Given the description of an element on the screen output the (x, y) to click on. 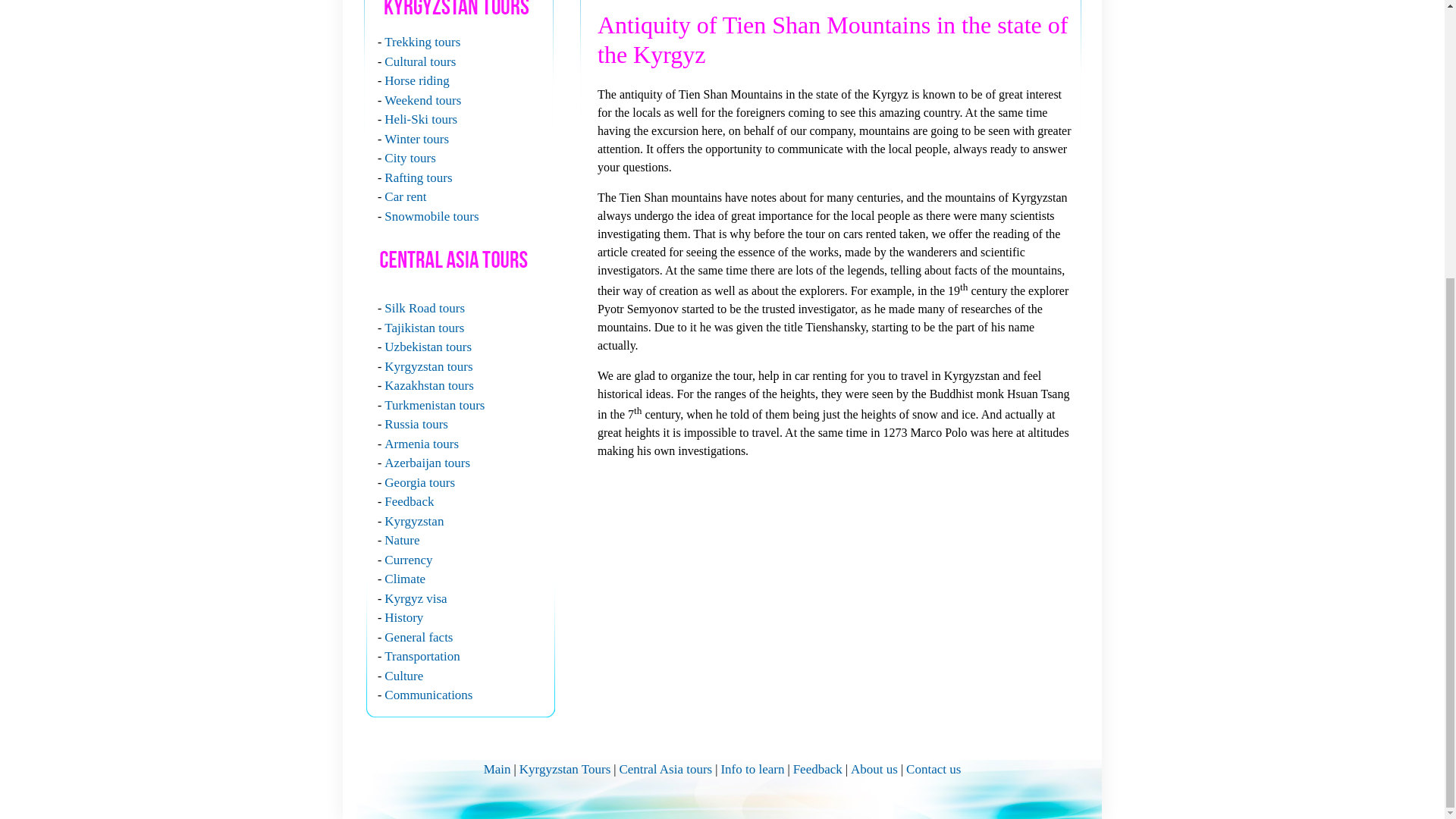
Tajikistan tours (424, 327)
Transportation (422, 656)
Heli-Ski tours (420, 119)
Currency (408, 559)
Kyrgyzstan (414, 520)
Culture (403, 675)
Feedback (408, 501)
Car rent (405, 196)
Georgia tours (419, 482)
Climate (404, 578)
Winter tours (416, 138)
Main (497, 769)
Azerbaijan tours (427, 462)
History (403, 617)
General facts (418, 636)
